Given the description of an element on the screen output the (x, y) to click on. 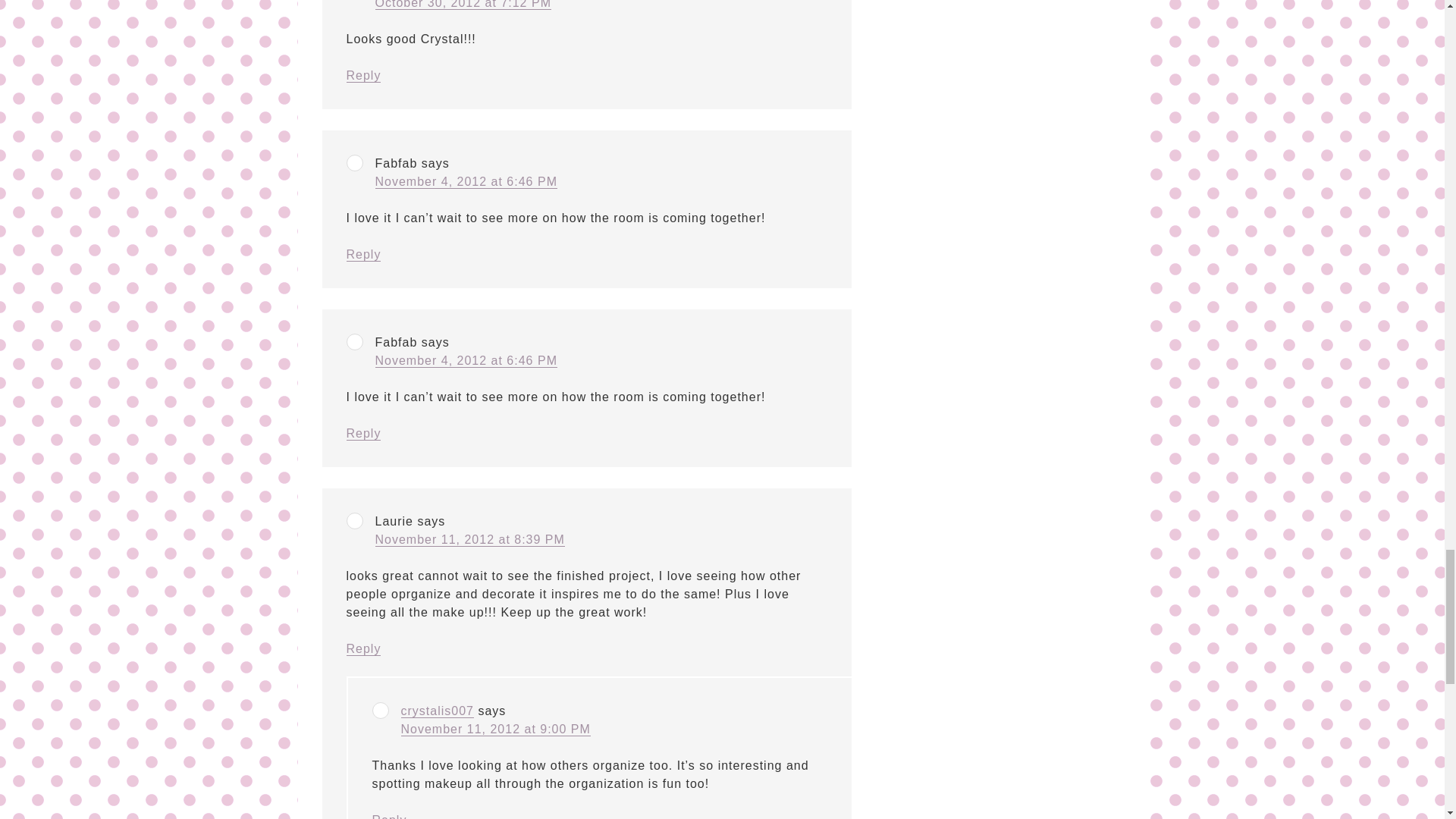
November 11, 2012 at 8:39 PM (469, 540)
Reply (363, 433)
November 4, 2012 at 6:46 PM (465, 360)
Reply (363, 254)
crystalis007 (436, 711)
Reply (363, 649)
November 4, 2012 at 6:46 PM (465, 182)
October 30, 2012 at 7:12 PM (462, 4)
Reply (363, 75)
